Given the description of an element on the screen output the (x, y) to click on. 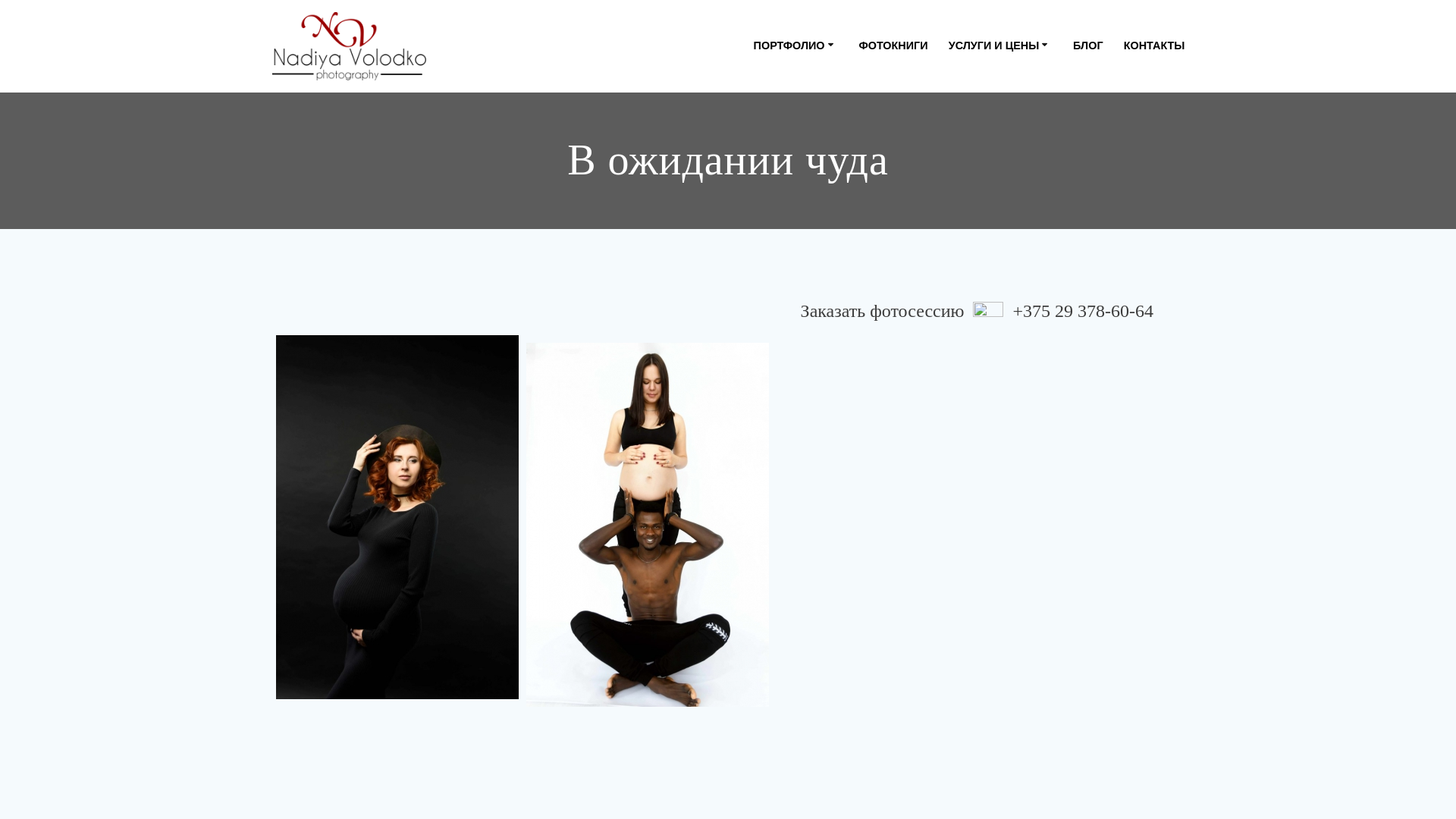
17.10.2020-9 Element type: hover (776, 611)
16.07.20-93 Element type: hover (776, 546)
Skip to content Element type: text (0, 0)
2-47 Element type: hover (776, 335)
16.07.20-52 Element type: hover (776, 505)
16.07.20-64 Element type: hover (776, 514)
22.01.20-89 Element type: hover (776, 677)
05.11.20-13 Element type: hover (526, 367)
22.01.20-19 Element type: hover (776, 628)
17.10.2020-5 Element type: hover (776, 603)
30.03.21-13 Element type: hover (776, 718)
16.07.20-104 Element type: hover (776, 563)
17.10.20-92 Element type: hover (776, 596)
17.01.21-15 Element type: hover (776, 587)
2-1 Element type: hover (397, 517)
14.01.20-60 Element type: hover (543, 411)
17.01.21-14 Element type: hover (776, 579)
26.03.20-48 Element type: hover (276, 706)
26.03.20-129 Element type: hover (276, 714)
22.01.20-33 Element type: hover (776, 636)
22.01.20-37.1 Element type: hover (776, 652)
22.01.20-34 Element type: hover (776, 644)
22.01.20-13 Element type: hover (776, 620)
14.01.20-101 Element type: hover (766, 495)
DSC_5467 Element type: hover (276, 722)
14.01.20-27 Element type: hover (776, 392)
2-41 Element type: hover (526, 335)
05.11.20-6 Element type: hover (526, 351)
26.03.20-38 Element type: hover (776, 701)
26.03.20-15 Element type: hover (776, 693)
14.01.20-43 Element type: hover (776, 400)
DSC_8105 Element type: hover (776, 726)
4.09.20-19 Element type: hover (776, 342)
05.11.2020-82 Element type: hover (776, 367)
16.07.20-70 Element type: hover (776, 522)
14.01.20-70 Element type: hover (776, 434)
14.01.20-87 Element type: hover (776, 480)
14.01.20-78 Element type: hover (702, 462)
05.11.20-7 Element type: hover (776, 351)
16.07.20-73 Element type: hover (776, 530)
05.11.20-10 1 Element type: hover (776, 359)
22.01.20-39 Element type: hover (776, 661)
11.05.20-124 Element type: hover (526, 392)
23.01.2021-5 Element type: hover (776, 685)
11.05.20-96 Element type: hover (526, 383)
05.11.20-9 1 Element type: hover (526, 359)
16.07.20-92 Element type: hover (776, 538)
DSC_8079 Element type: hover (526, 722)
22.01.20-75.1 Element type: hover (776, 668)
16.07.20-102 Element type: hover (776, 555)
11.05.20-87 Element type: hover (776, 375)
11.05.20-100 Element type: hover (776, 383)
2-52 Element type: hover (526, 342)
17.01.21-13 Element type: hover (776, 571)
26.03.20-134 Element type: hover (526, 714)
11.05.20-79 Element type: hover (526, 375)
14.01.20-42 Element type: hover (526, 400)
26.03.20-118 Element type: hover (776, 709)
